Given the description of an element on the screen output the (x, y) to click on. 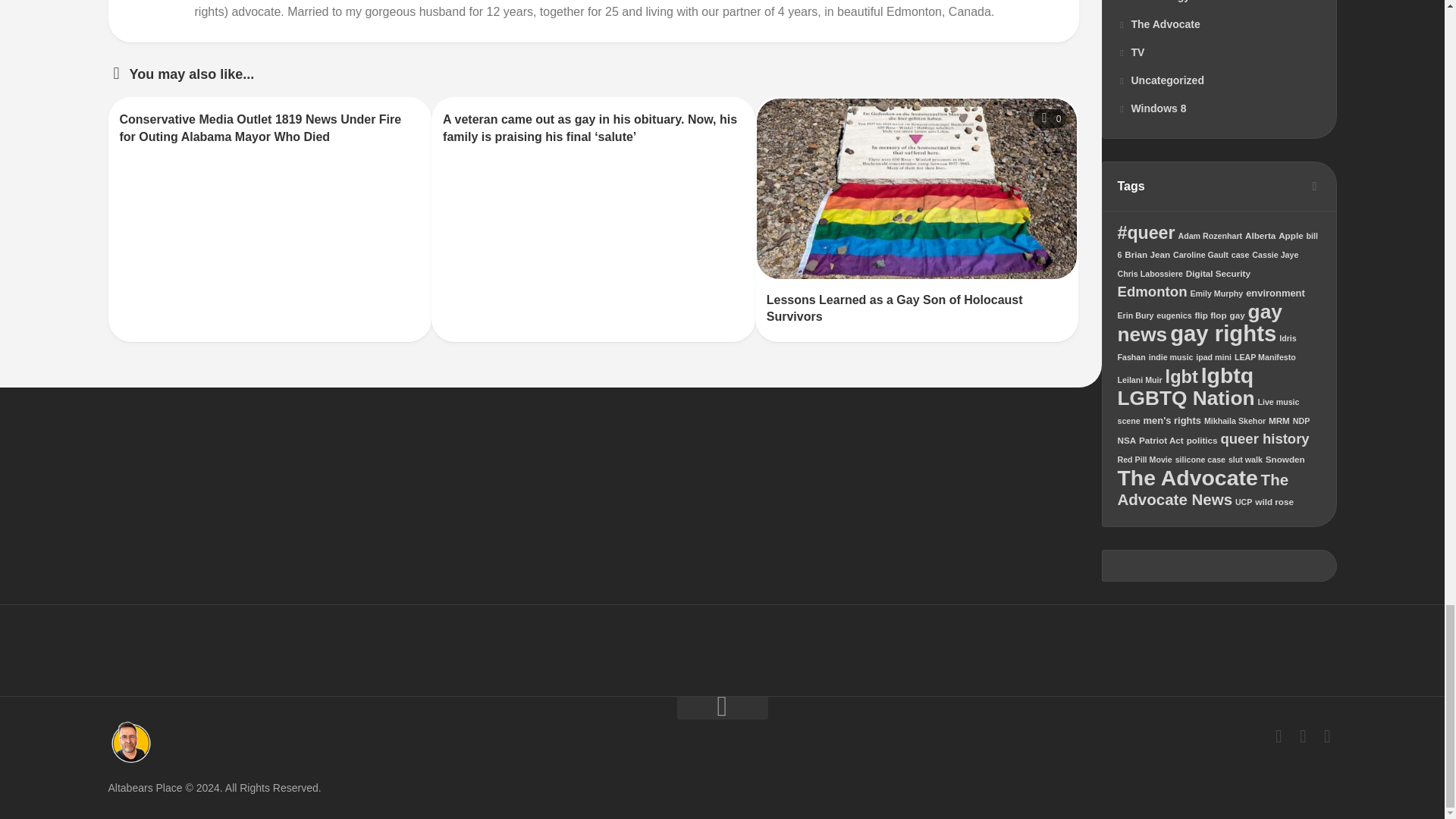
Twitter (1302, 736)
Facebook (1278, 736)
Instagram (1326, 736)
